Given the description of an element on the screen output the (x, y) to click on. 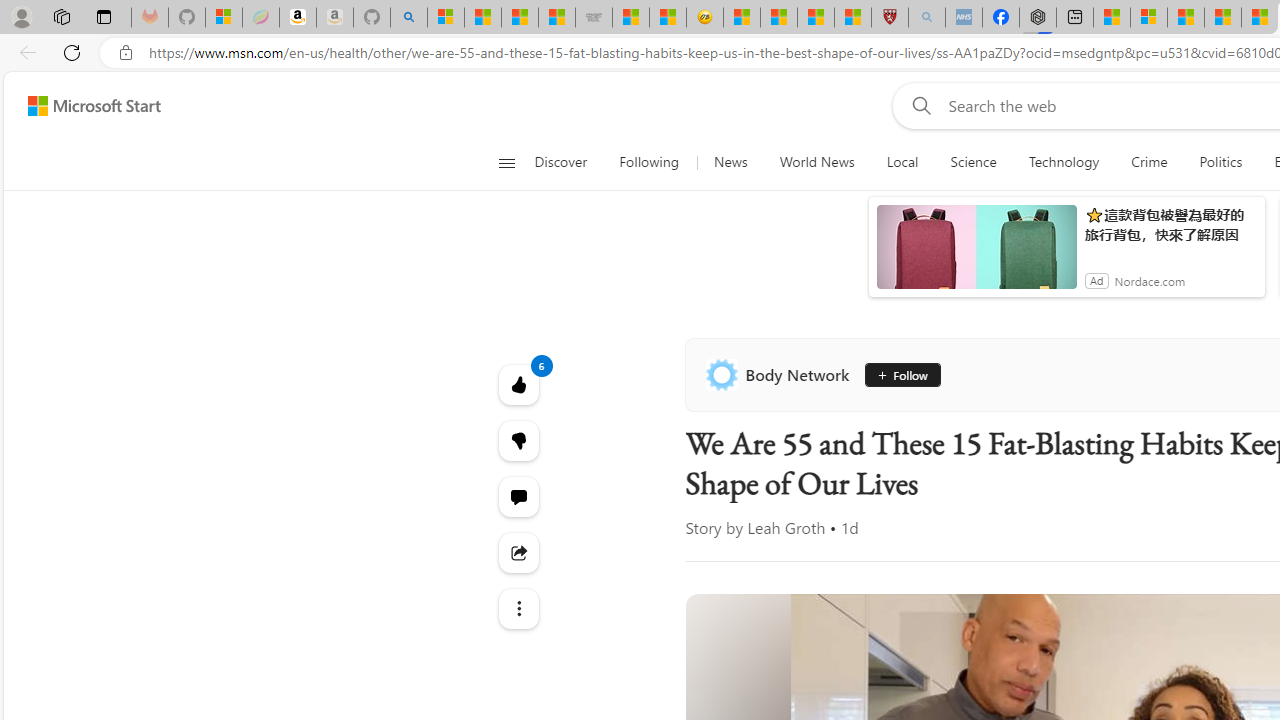
6 Like (517, 384)
anim-content (975, 255)
Robert H. Shmerling, MD - Harvard Health (889, 17)
